Given the description of an element on the screen output the (x, y) to click on. 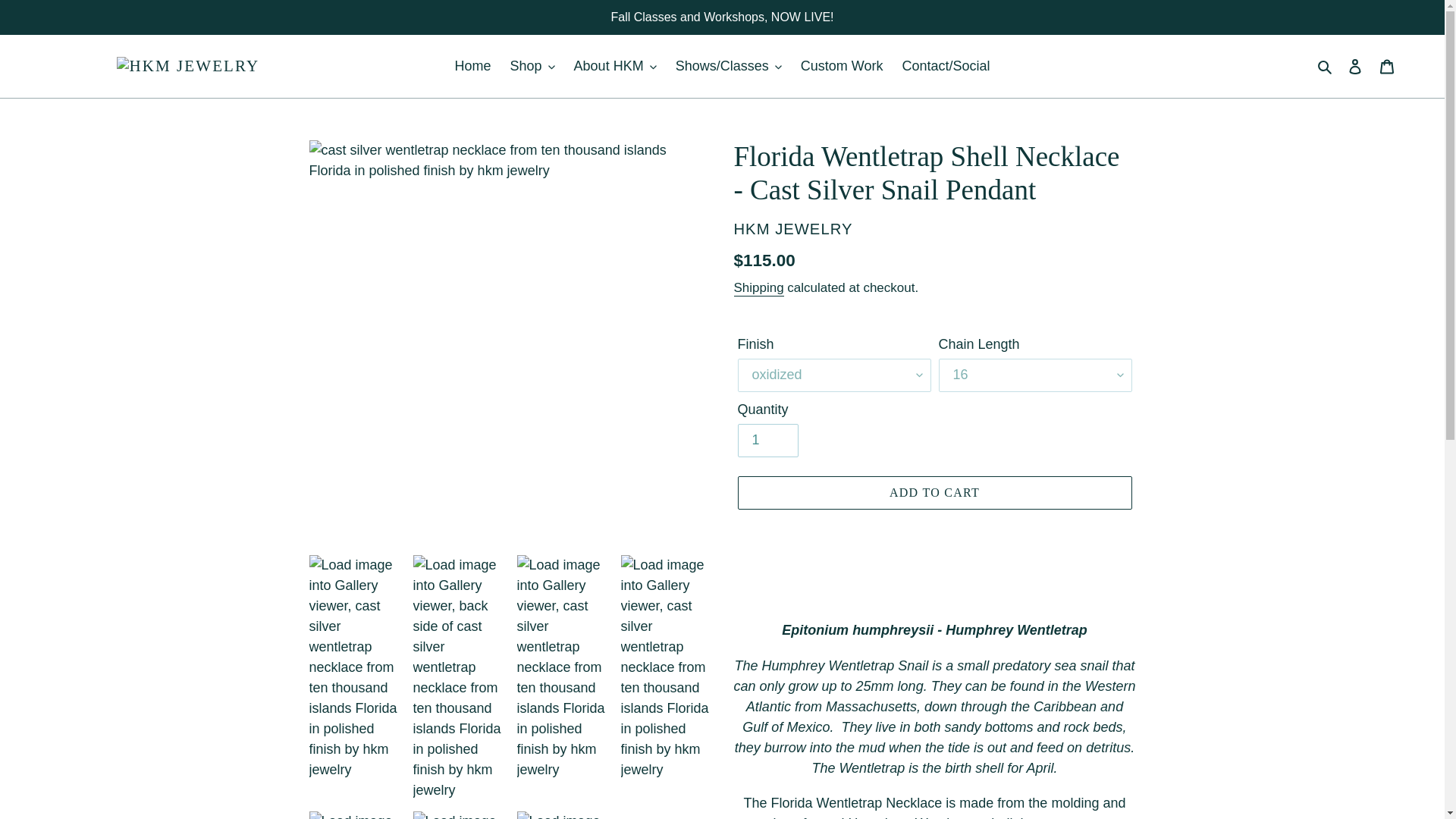
Cart (1387, 66)
1 (766, 440)
Search (1326, 65)
Log in (1355, 66)
Custom Work (842, 66)
About HKM (614, 66)
Home (472, 66)
Shop (532, 66)
